Given the description of an element on the screen output the (x, y) to click on. 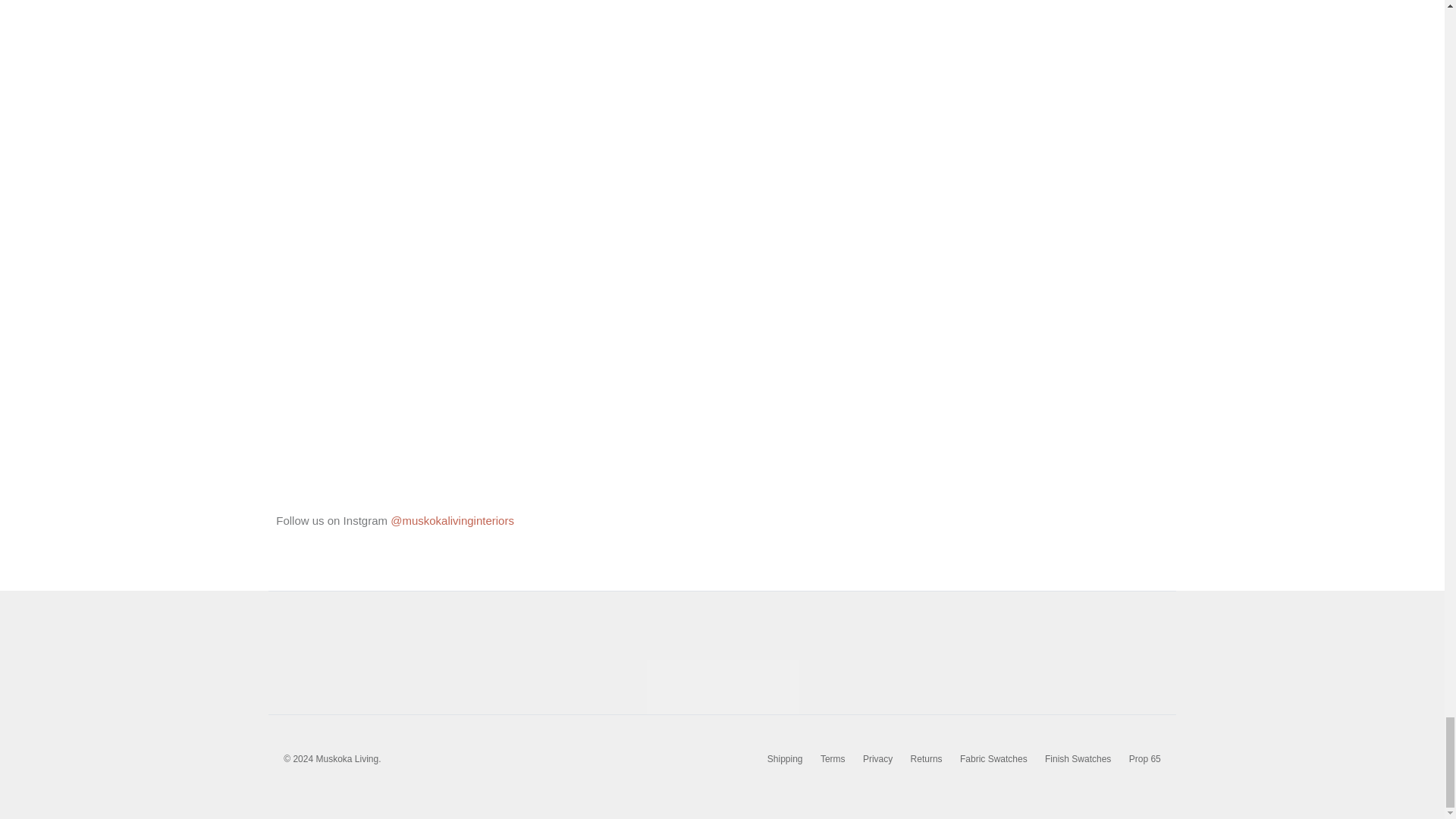
Shipping (785, 758)
Follow us on Instagram (451, 520)
Privacy (877, 758)
Terms (833, 758)
